Given the description of an element on the screen output the (x, y) to click on. 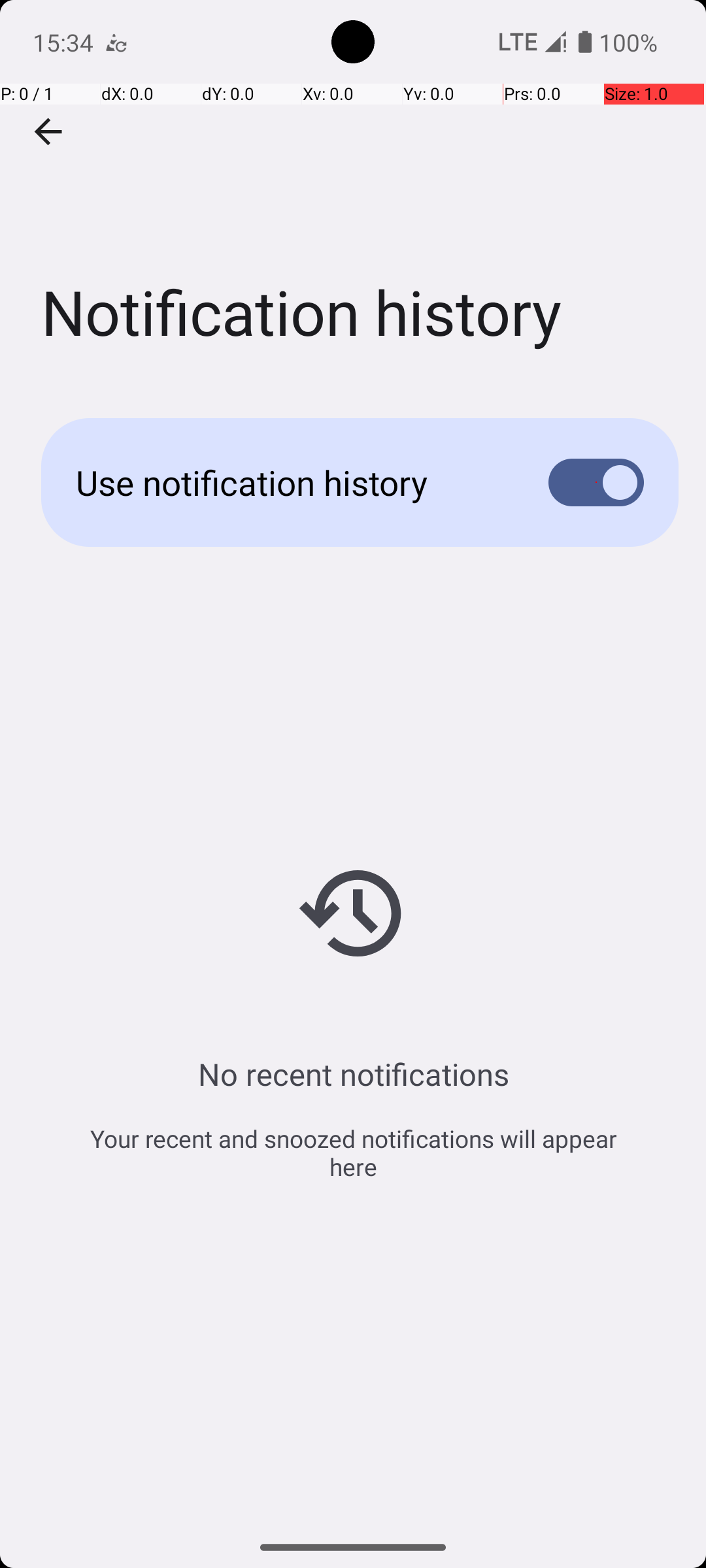
No recent notifications Element type: android.widget.TextView (352, 1073)
Your recent and snoozed notifications will appear here Element type: android.widget.TextView (352, 1152)
